Given the description of an element on the screen output the (x, y) to click on. 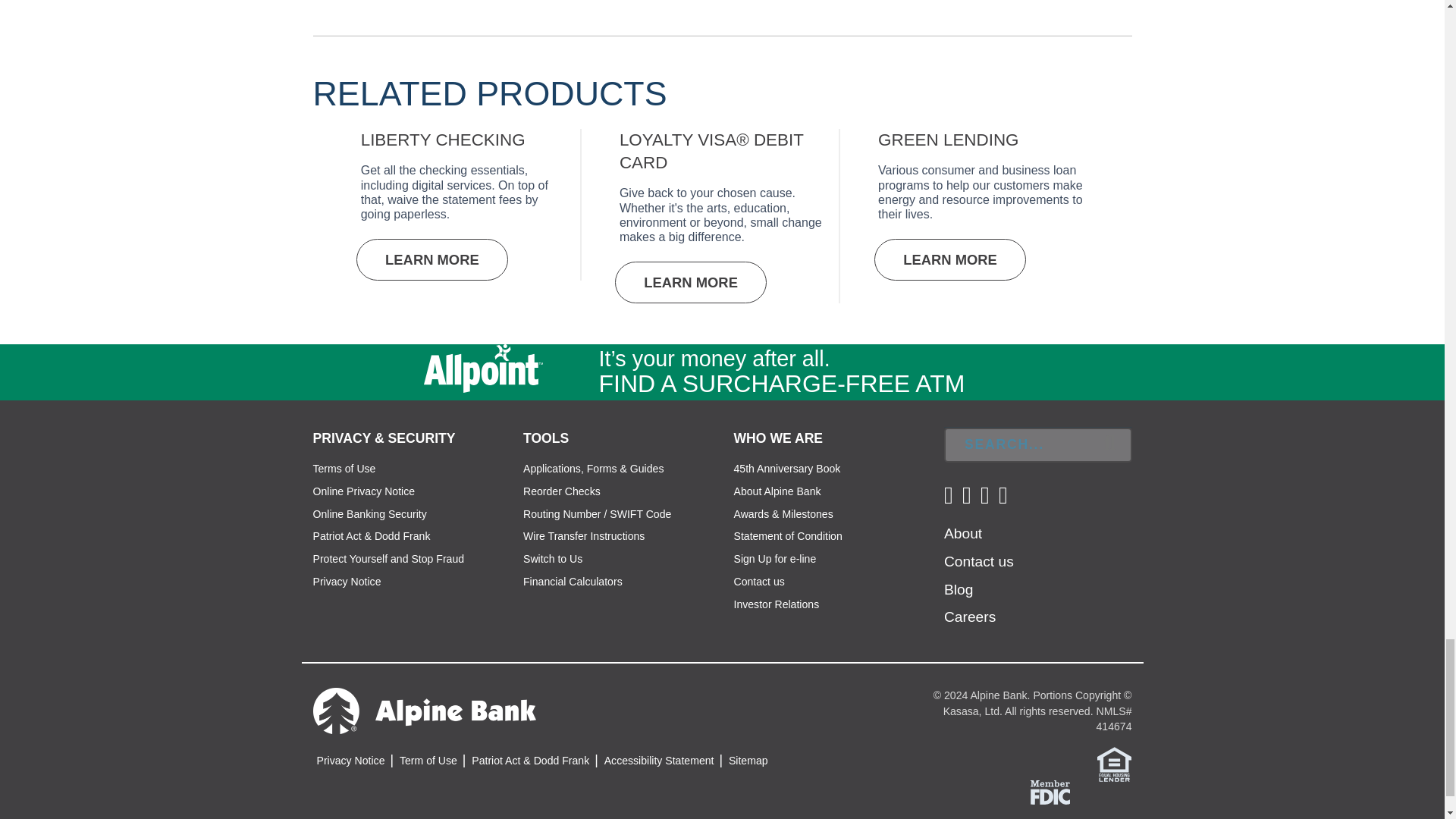
Search... (1037, 444)
MEMBER FDIC (1050, 792)
EQUAL HOUSING LENDER (1114, 764)
